Given the description of an element on the screen output the (x, y) to click on. 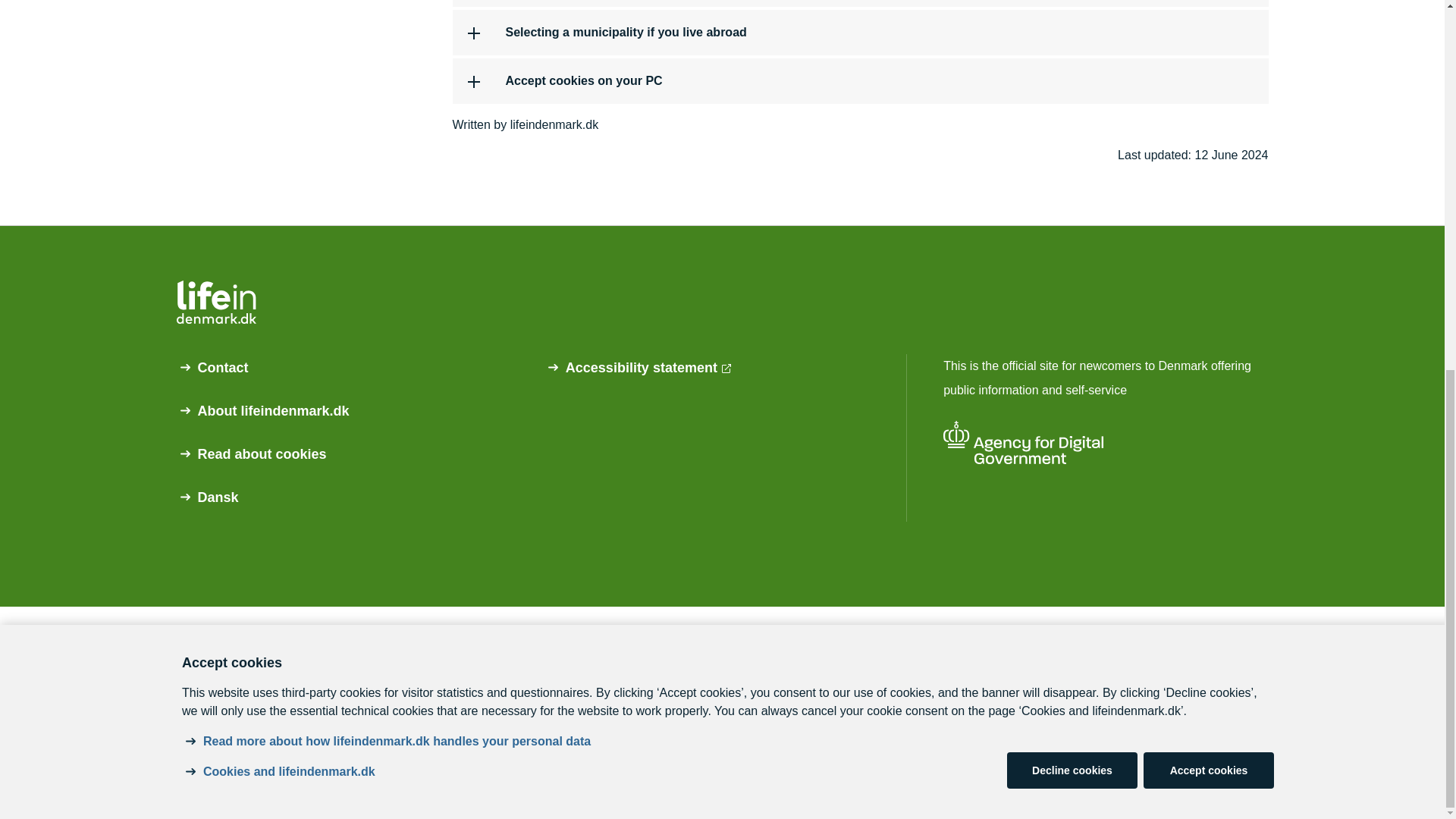
Accept cookies (1208, 98)
Decline cookies (1072, 98)
Cookies and lifeindenmark.dk (289, 99)
